Given the description of an element on the screen output the (x, y) to click on. 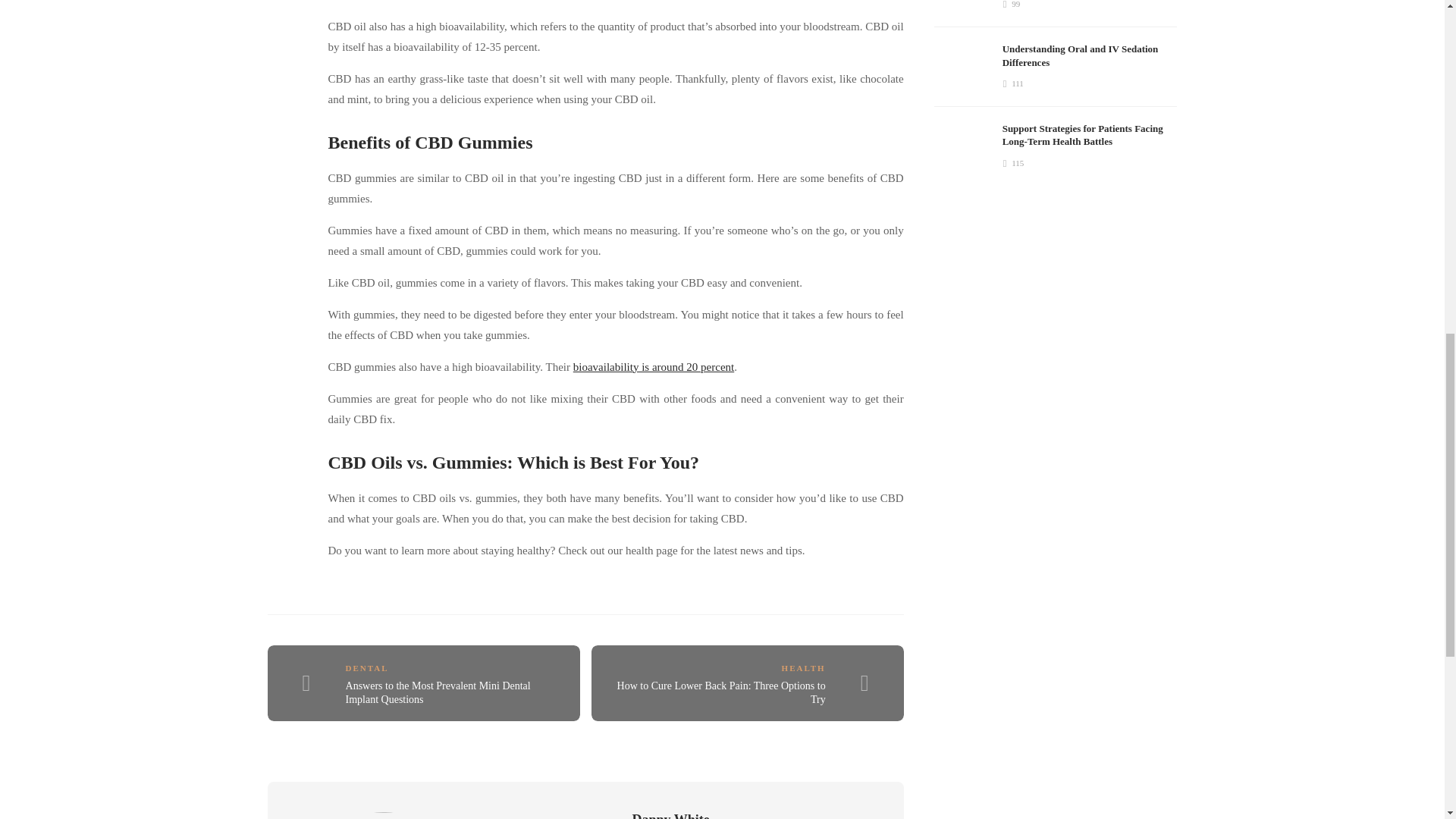
DENTAL (367, 667)
Answers to the Most Prevalent Mini Dental Implant Questions (438, 692)
How to Cure Lower Back Pain: Three Options to Try (721, 692)
bioavailability is around 20 percent (653, 367)
HEALTH (803, 667)
